Given the description of an element on the screen output the (x, y) to click on. 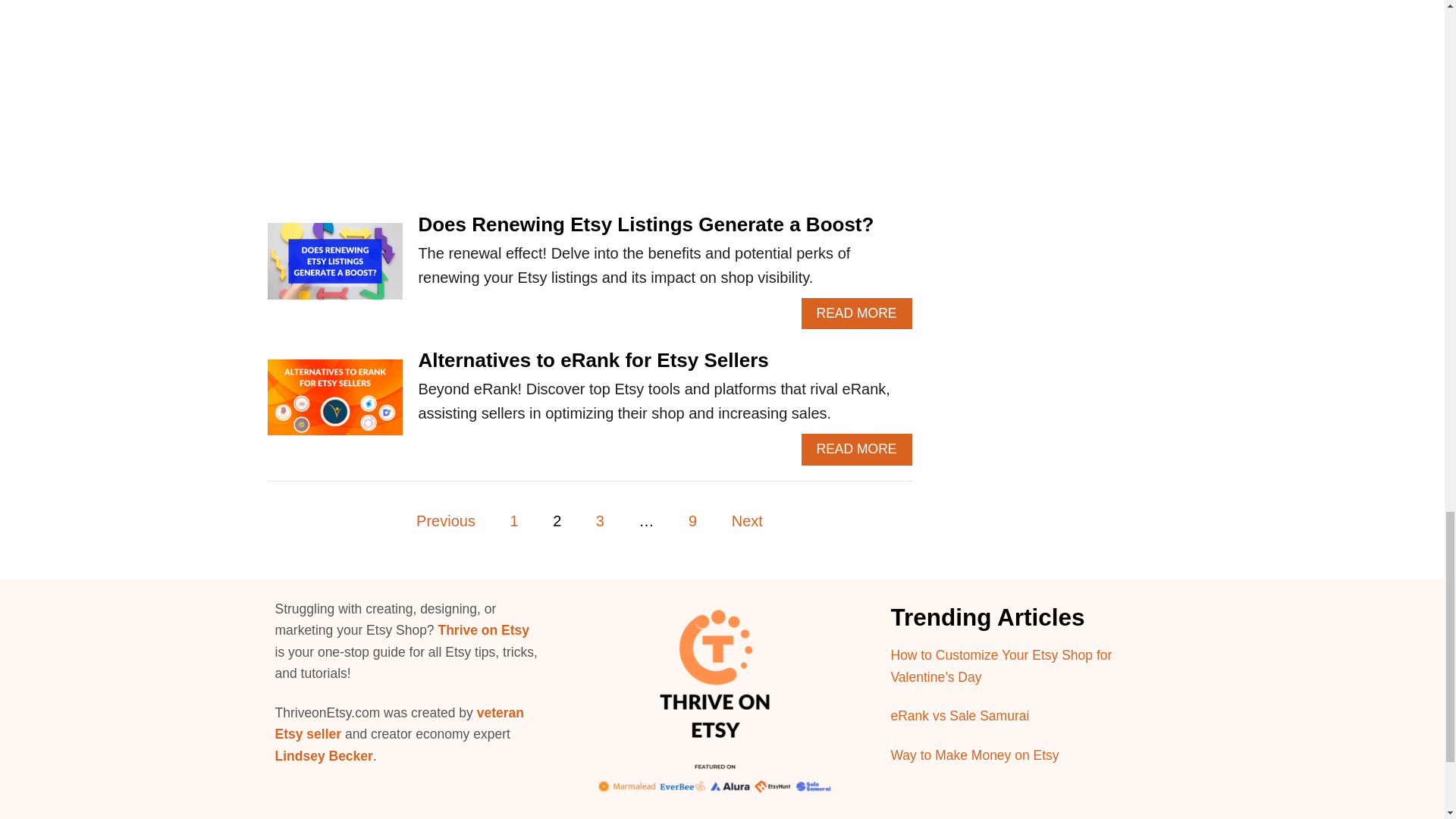
Alternatives to eRank for Etsy Sellers (334, 405)
Does Renewing Etsy Listings Generate a Boost? (645, 223)
Does Renewing Etsy Listings Generate a Boost? (334, 268)
